Given the description of an element on the screen output the (x, y) to click on. 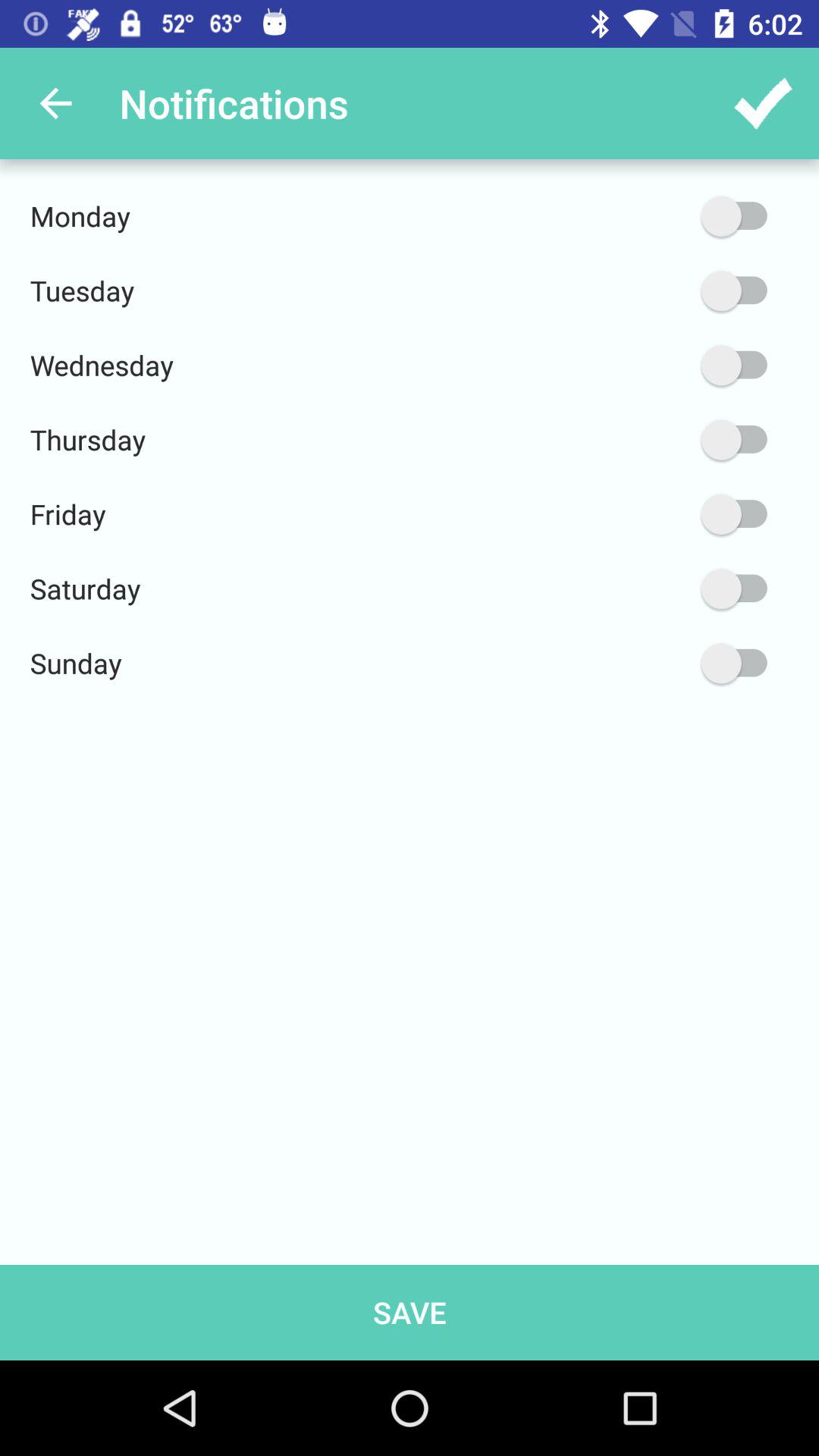
select thursday notification (661, 439)
